Given the description of an element on the screen output the (x, y) to click on. 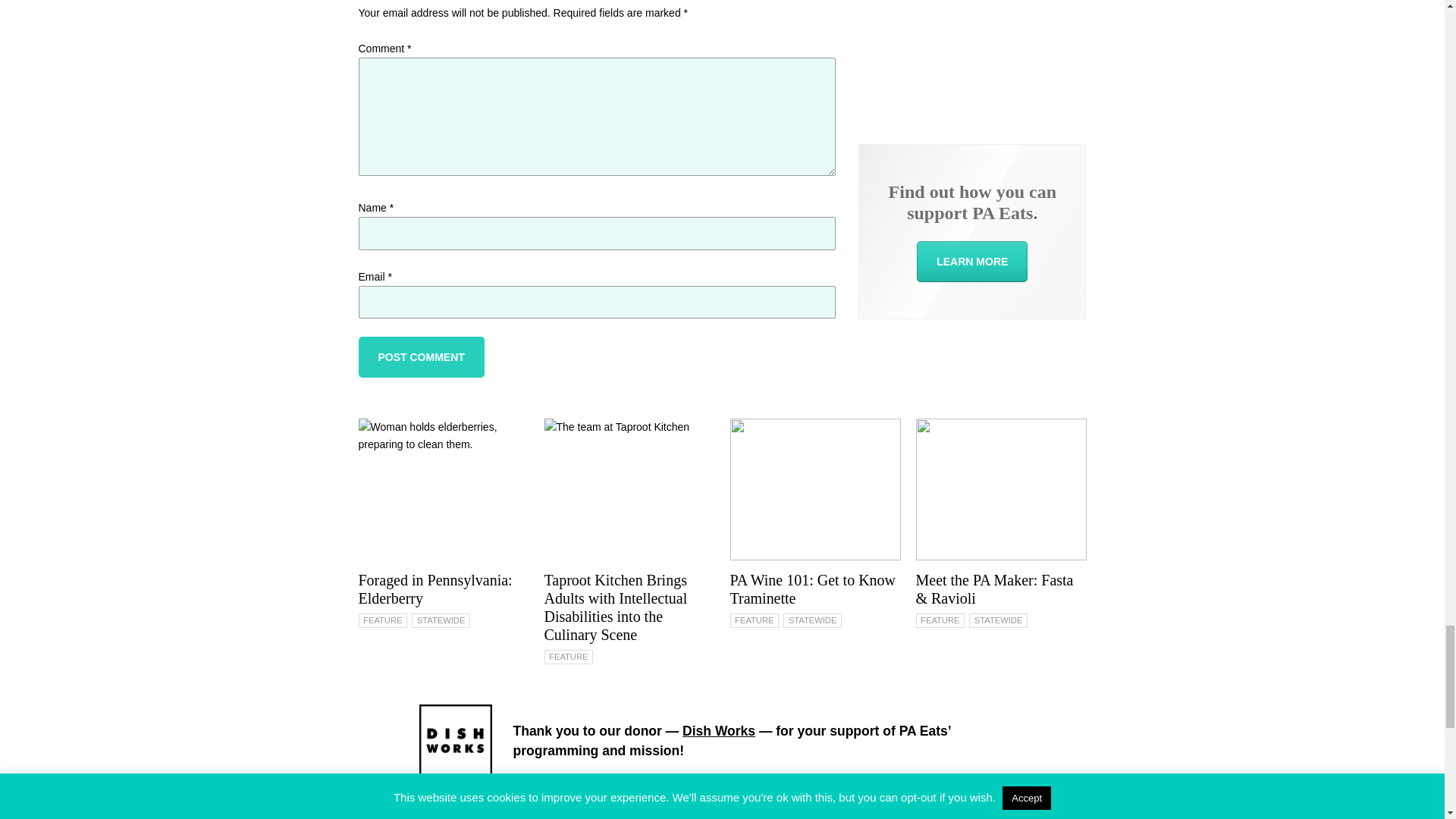
Post Comment (420, 356)
